Given the description of an element on the screen output the (x, y) to click on. 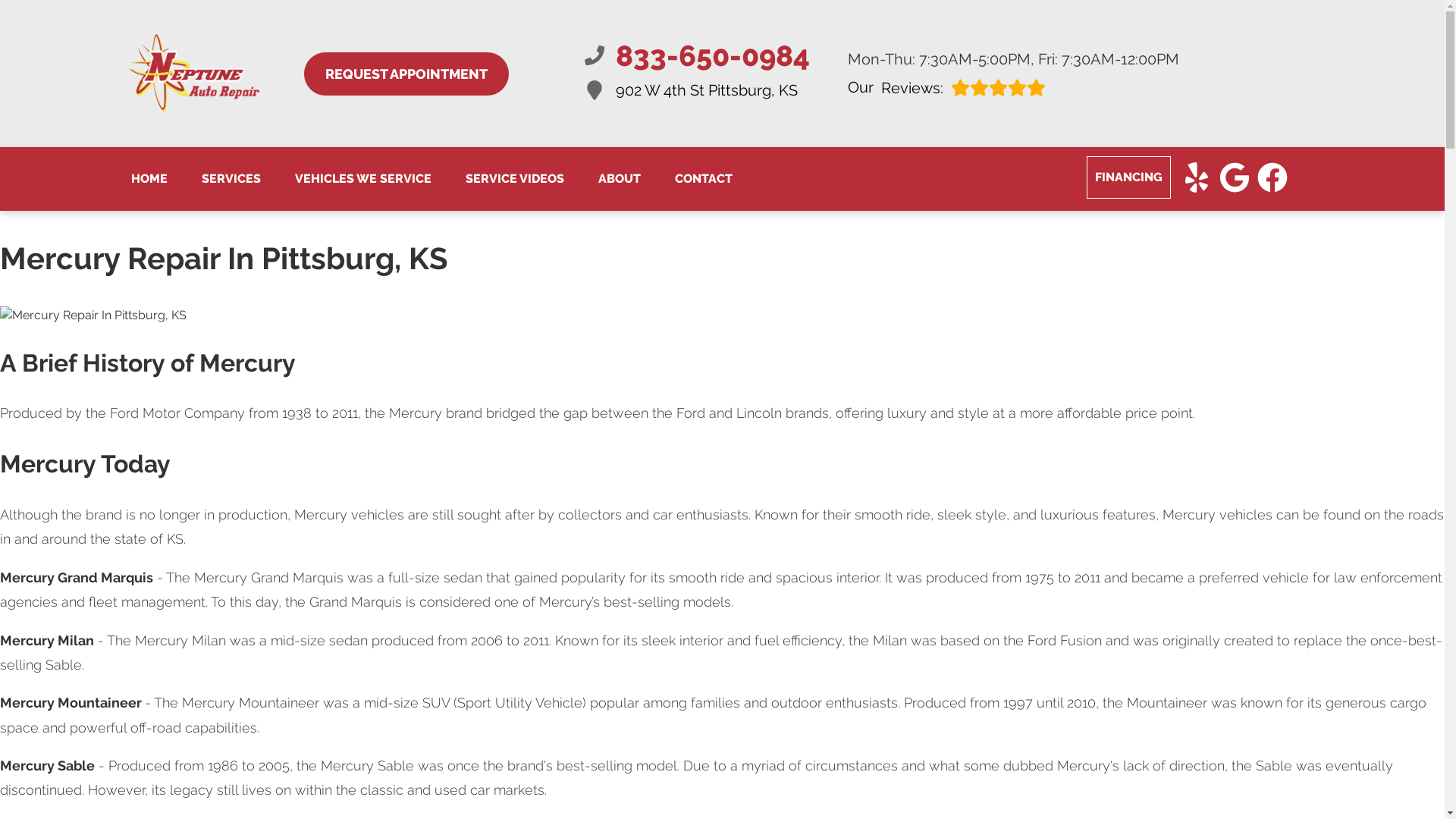
Home (149, 178)
SERVICES (231, 178)
Neptune Auto Repair (696, 90)
Call Neptune Auto Repair (194, 73)
REQUEST APPOINTMENT (696, 54)
HOME (405, 73)
833-650-0984 (1013, 87)
Make an Appointment (149, 178)
Services (696, 54)
Our Reviews (405, 73)
